Given the description of an element on the screen output the (x, y) to click on. 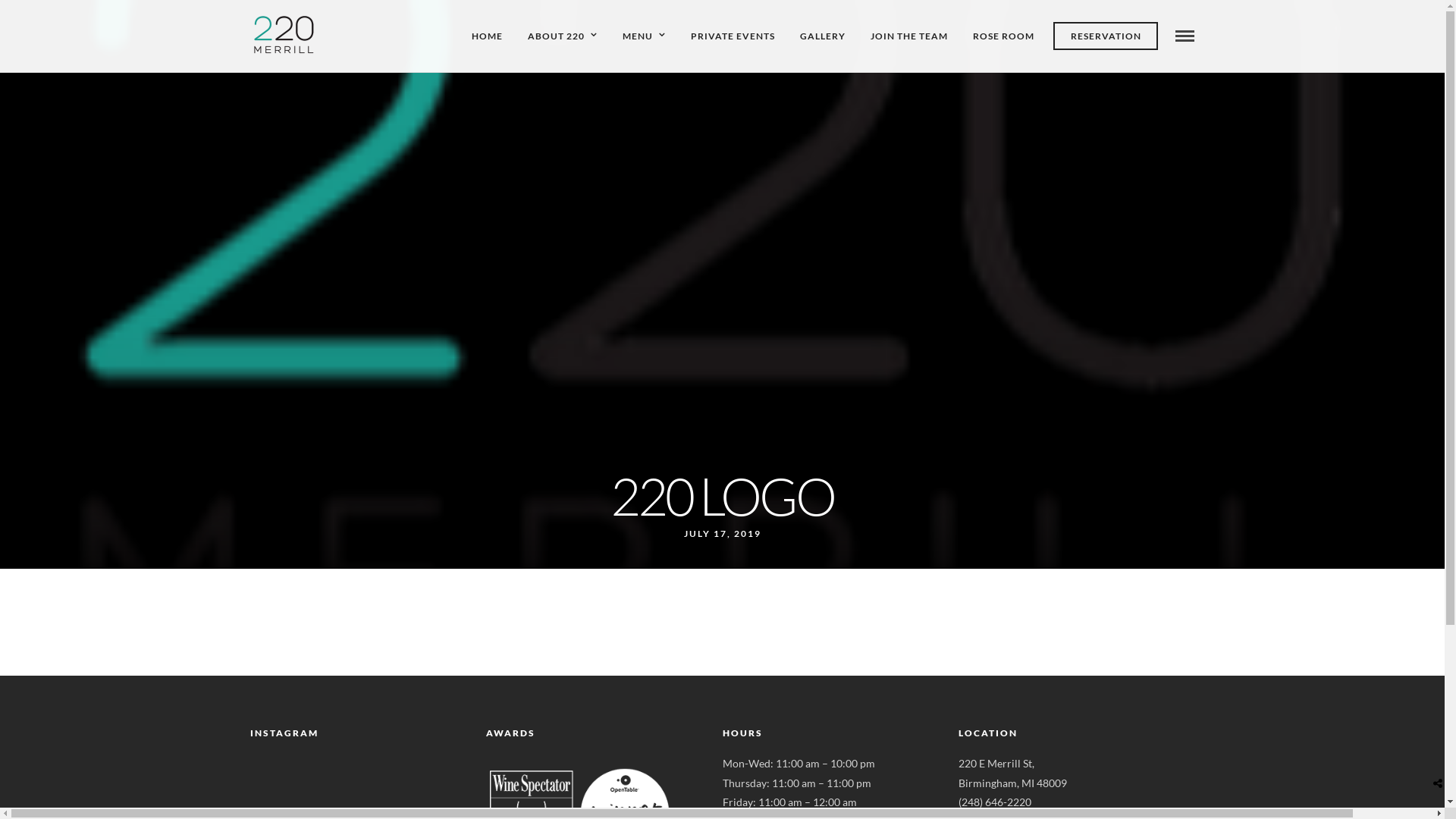
GALLERY Element type: text (822, 36)
HOME Element type: text (487, 36)
ABOUT 220 Element type: text (562, 36)
MENU Element type: text (644, 36)
JOIN THE TEAM Element type: text (909, 36)
PRIVATE EVENTS Element type: text (732, 36)
RESERVATION Element type: text (1105, 35)
ROSE ROOM Element type: text (1003, 36)
